Given the description of an element on the screen output the (x, y) to click on. 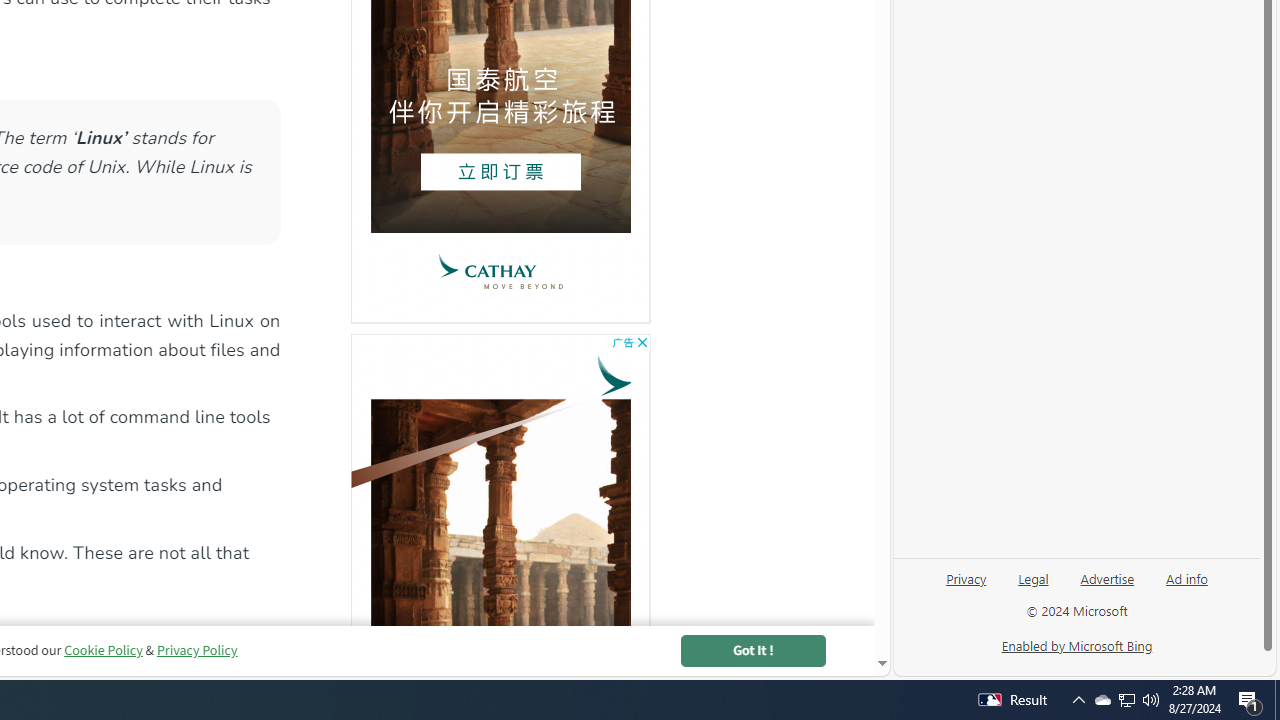
Privacy Policy (197, 650)
Legal (1033, 586)
Ad info (1186, 586)
Ad info (1187, 577)
Cookie Policy (103, 650)
Legal (1033, 577)
AutomationID: cbb (641, 341)
Got It ! (752, 650)
